Given the description of an element on the screen output the (x, y) to click on. 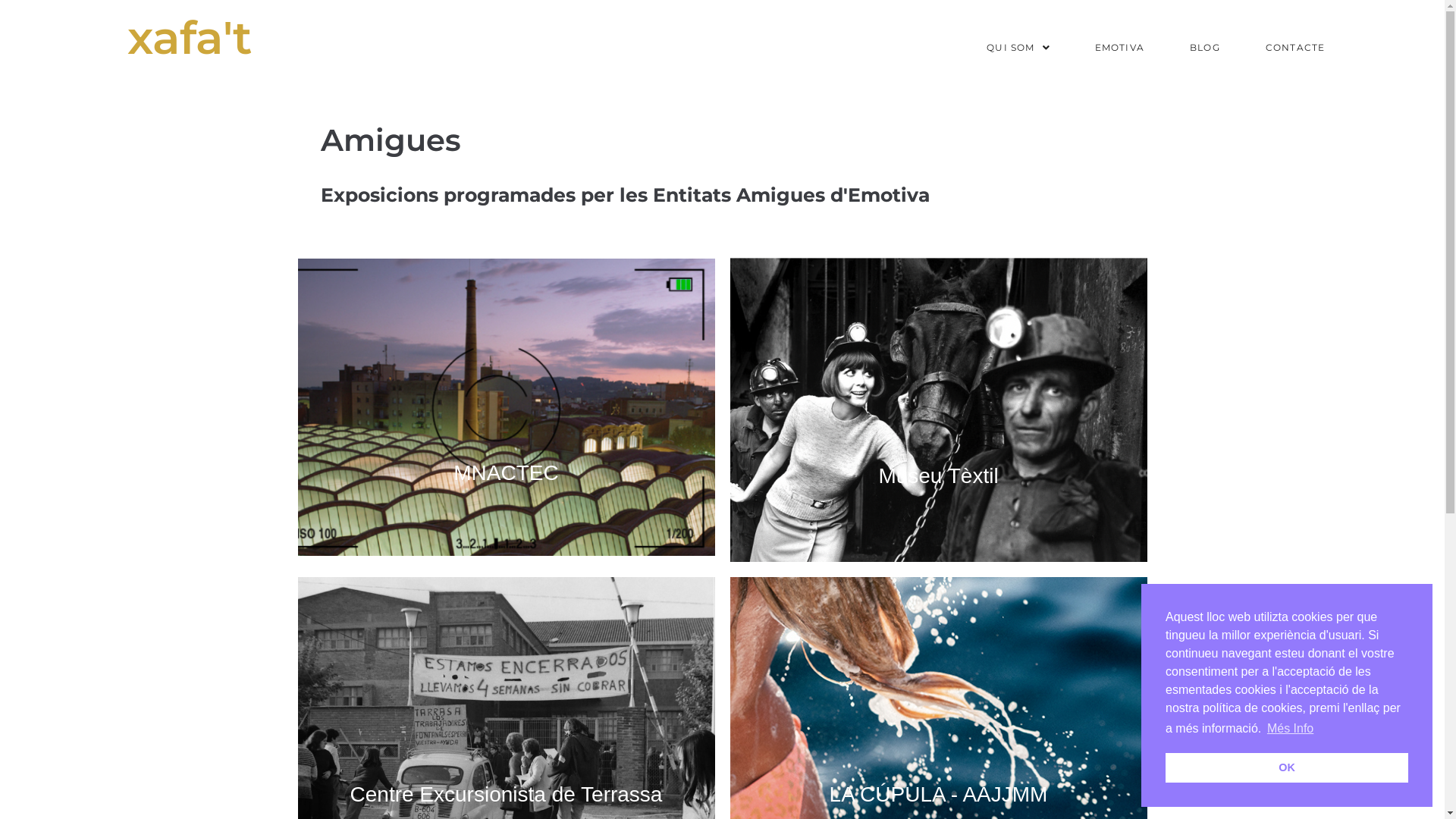
QUI SOM Element type: text (1017, 37)
OK Element type: text (1286, 767)
EMOTIVA Element type: text (1119, 37)
BLOG Element type: text (1204, 37)
CONTACTE Element type: text (1295, 37)
xafa't Element type: text (189, 37)
MNACTEC Element type: text (505, 406)
